Given the description of an element on the screen output the (x, y) to click on. 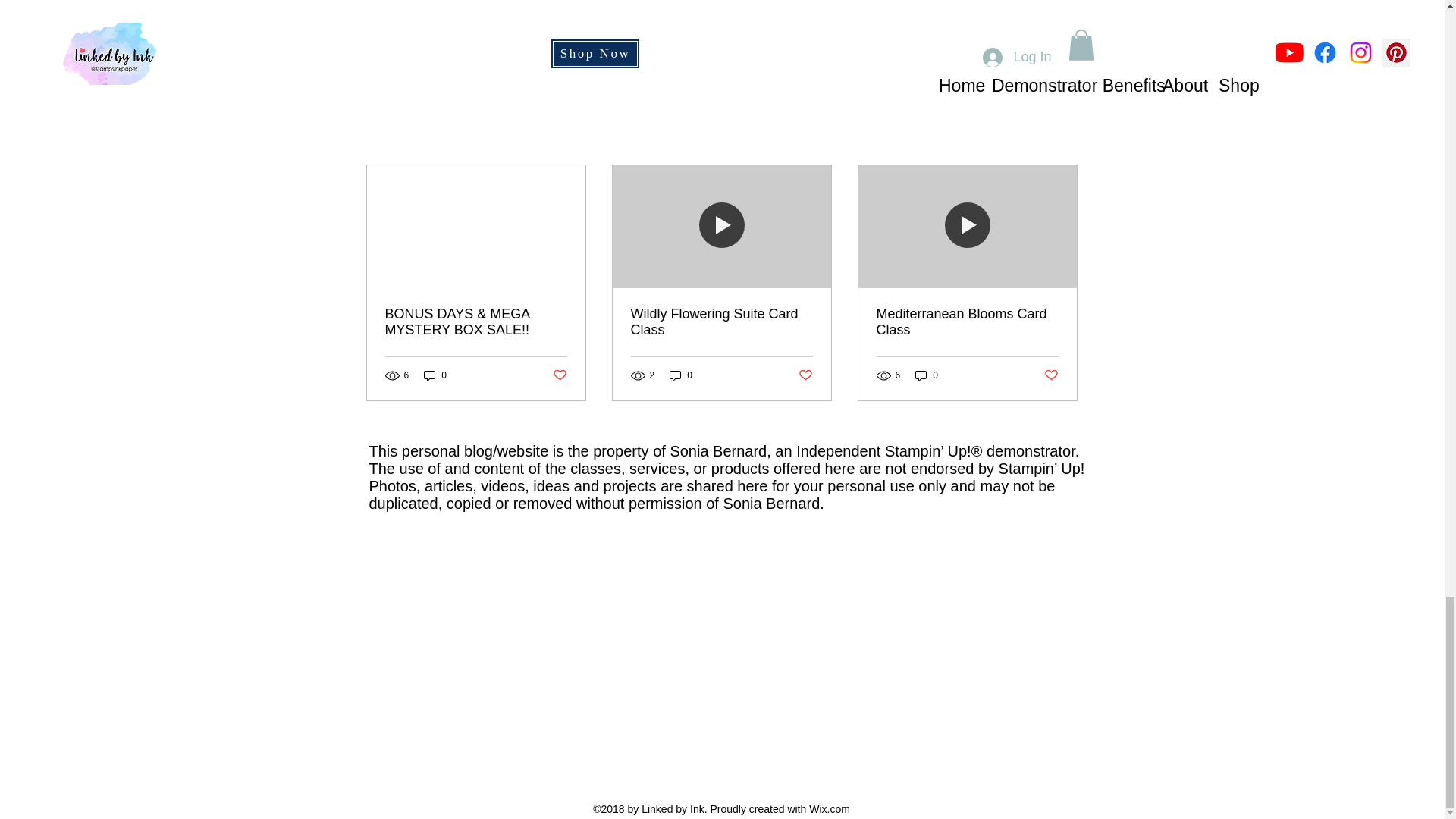
Post not marked as liked (558, 375)
Wildly Flowering Suite Card Class (721, 322)
0 (681, 375)
Post not marked as liked (1050, 375)
Mediterranean Blooms Card Class (967, 322)
Post not marked as liked (804, 375)
0 (926, 375)
See All (1061, 138)
Post not marked as liked (995, 55)
0 (435, 375)
